Given the description of an element on the screen output the (x, y) to click on. 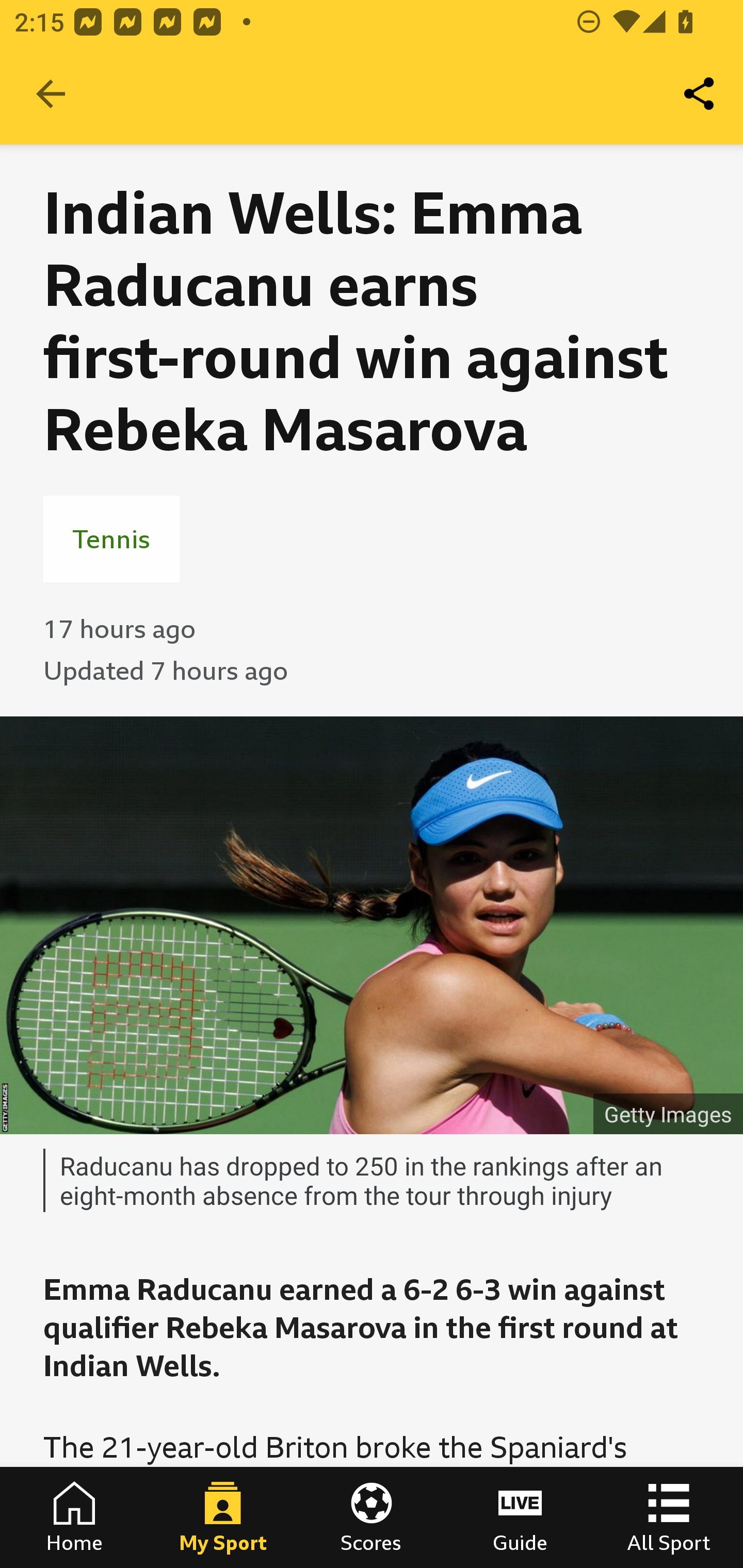
Navigate up (50, 93)
Share (699, 93)
Tennis (111, 538)
Home (74, 1517)
Scores (371, 1517)
Guide (519, 1517)
All Sport (668, 1517)
